Given the description of an element on the screen output the (x, y) to click on. 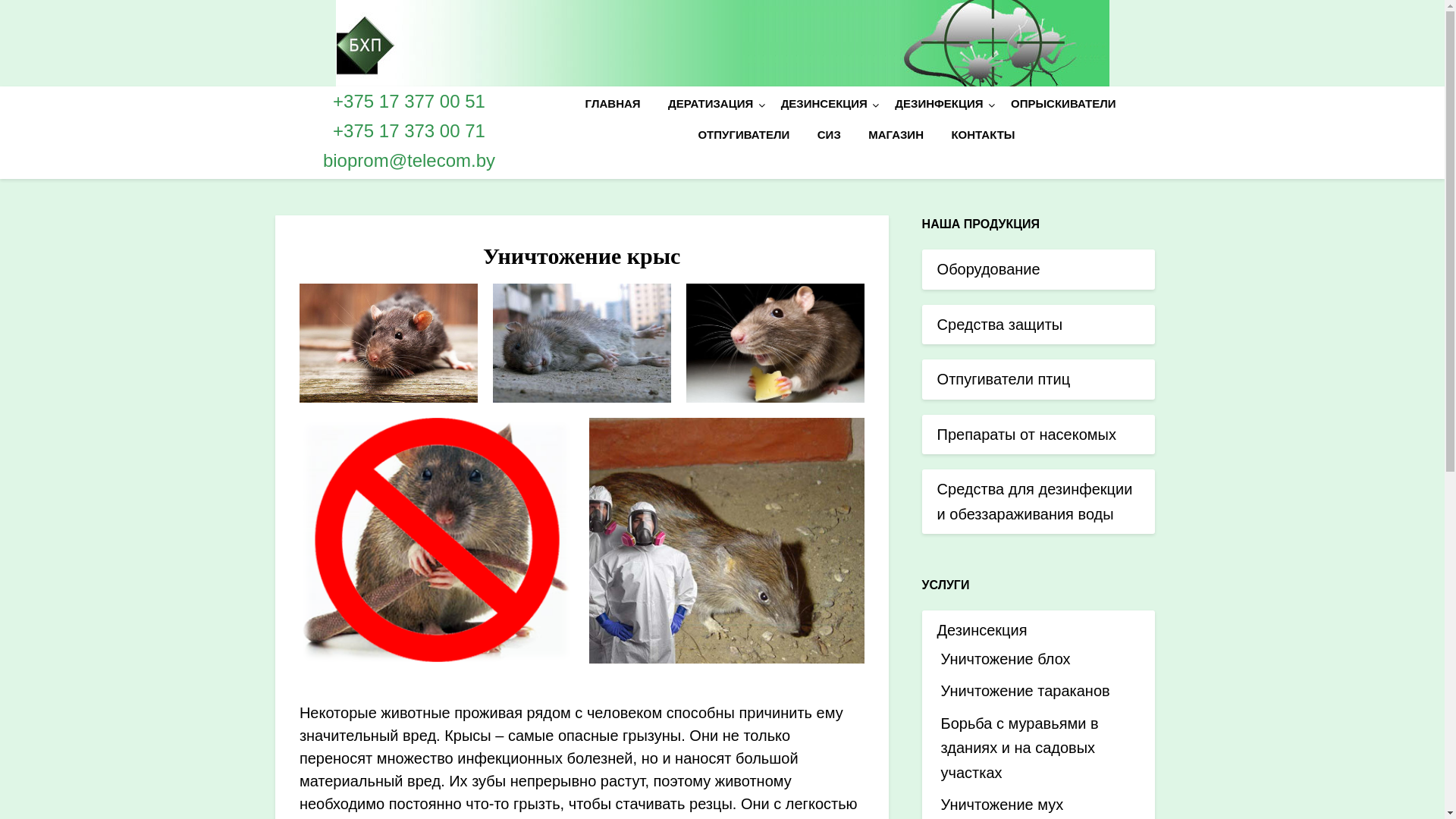
+375 17 377 00 51 Element type: text (408, 101)
bxp.by Element type: text (301, 198)
+375 17 373 00 71 Element type: text (408, 130)
bioprom@telecom.by Element type: text (409, 160)
